Given the description of an element on the screen output the (x, y) to click on. 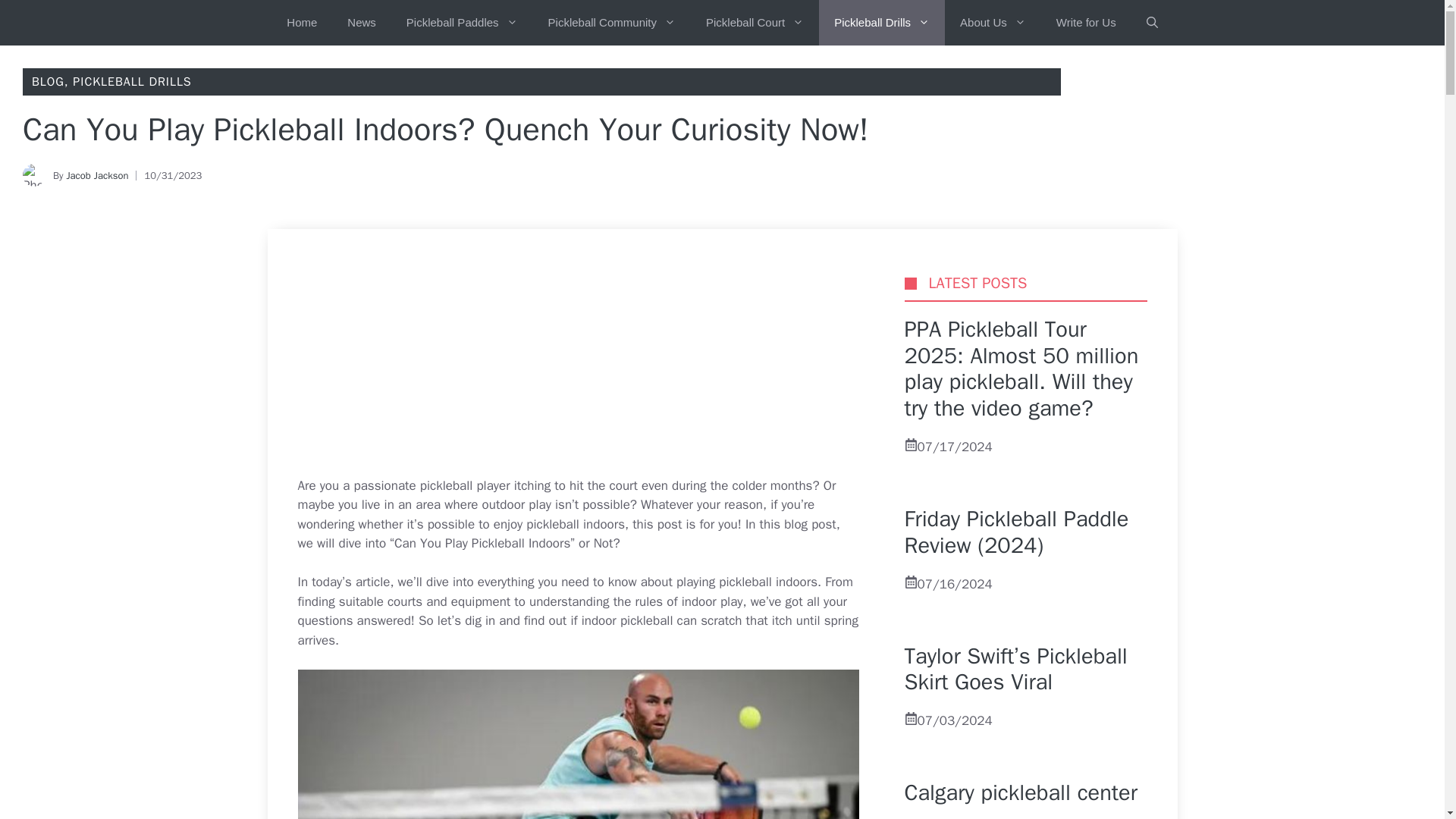
News (361, 22)
Pickleball Drills (881, 22)
Jacob Jackson (96, 174)
Calgary pickleball center (1020, 792)
BLOG (48, 81)
Home (300, 22)
Pickleball Paddles (461, 22)
PICKLEBALL DRILLS (131, 81)
Pickleball Community (611, 22)
Pickleball Court (754, 22)
About Us (992, 22)
Write for Us (1086, 22)
